Given the description of an element on the screen output the (x, y) to click on. 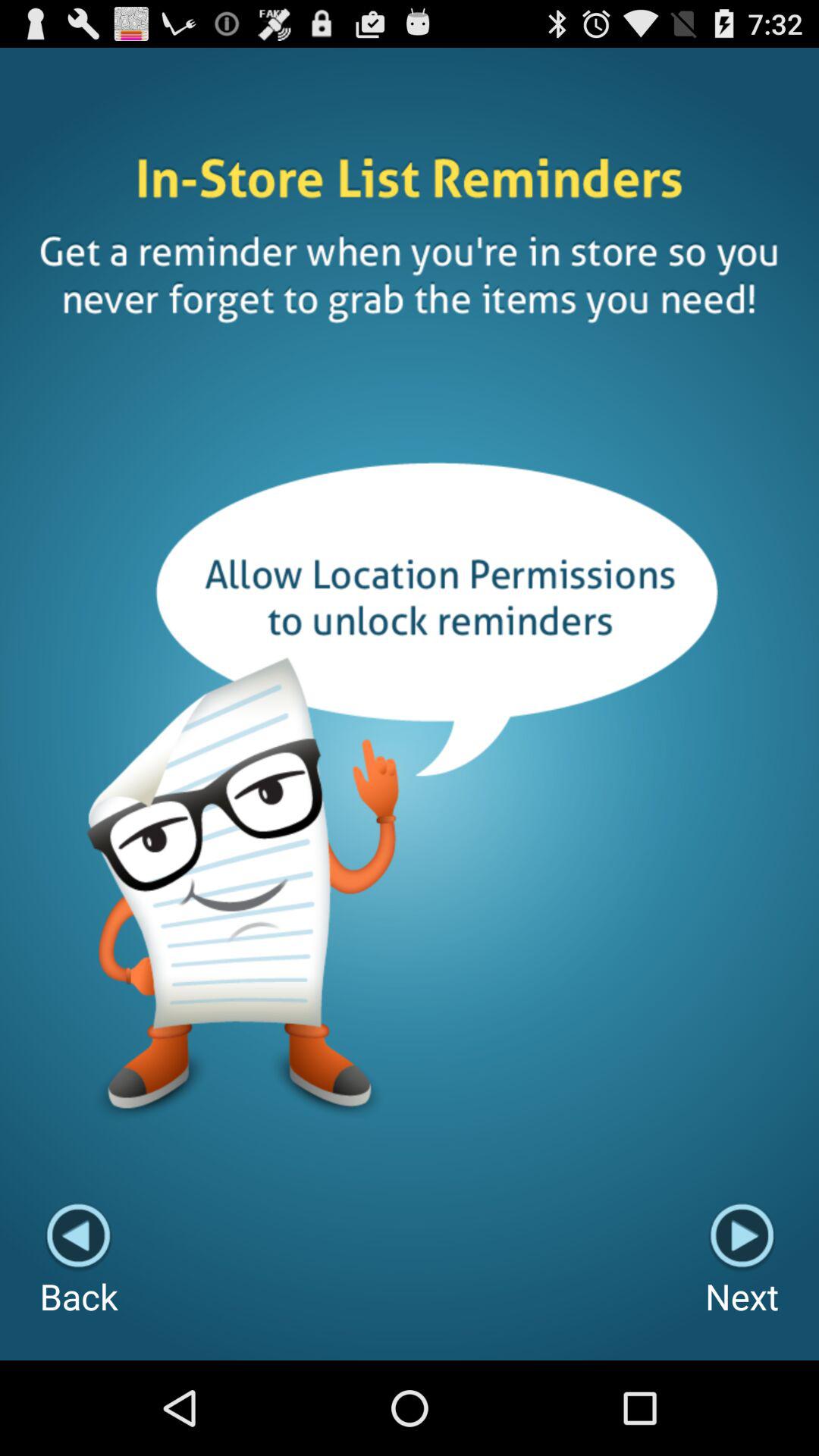
launch the next icon (742, 1260)
